Given the description of an element on the screen output the (x, y) to click on. 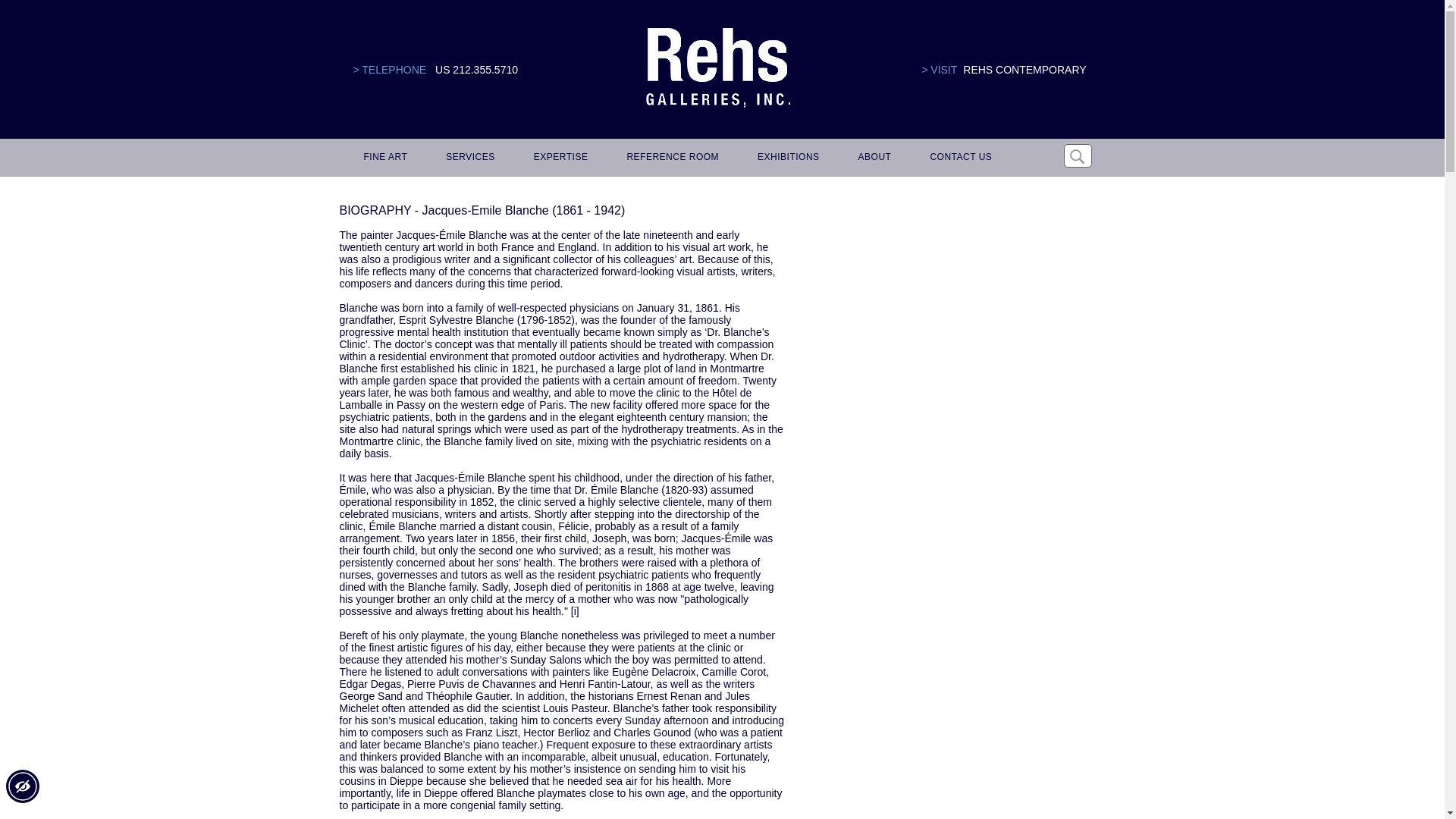
Logo (717, 67)
EXPERTISE (558, 157)
CONTACT US (957, 157)
REFERENCE ROOM (670, 157)
SERVICES (467, 157)
REHS CONTEMPORARY (1024, 69)
FINE ART (383, 157)
Accessibility Menu (22, 786)
EXHIBITIONS (785, 157)
ABOUT (872, 157)
